Given the description of an element on the screen output the (x, y) to click on. 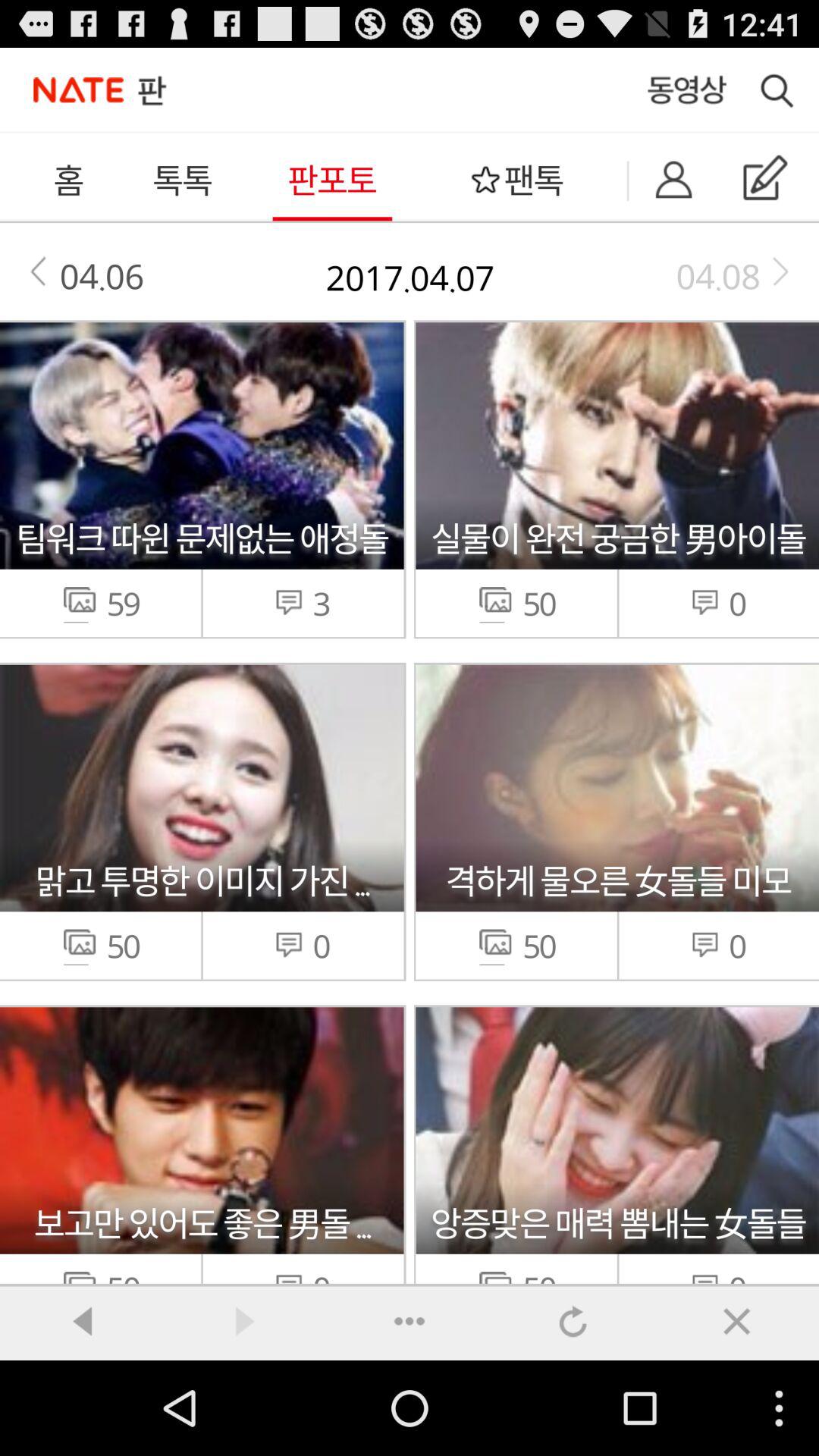
to move back (81, 1320)
